Given the description of an element on the screen output the (x, y) to click on. 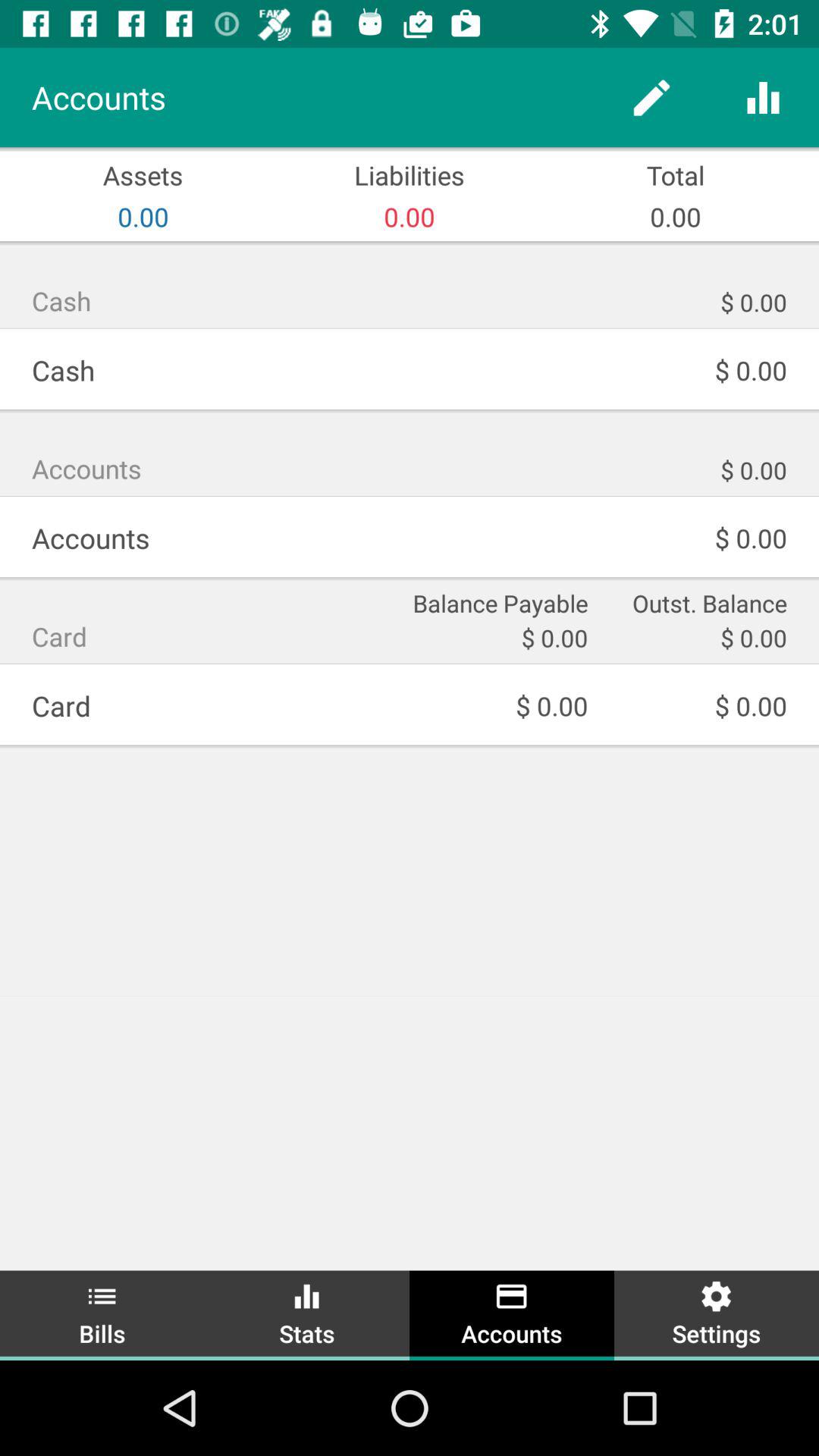
tap item next to the accounts (306, 1313)
